Given the description of an element on the screen output the (x, y) to click on. 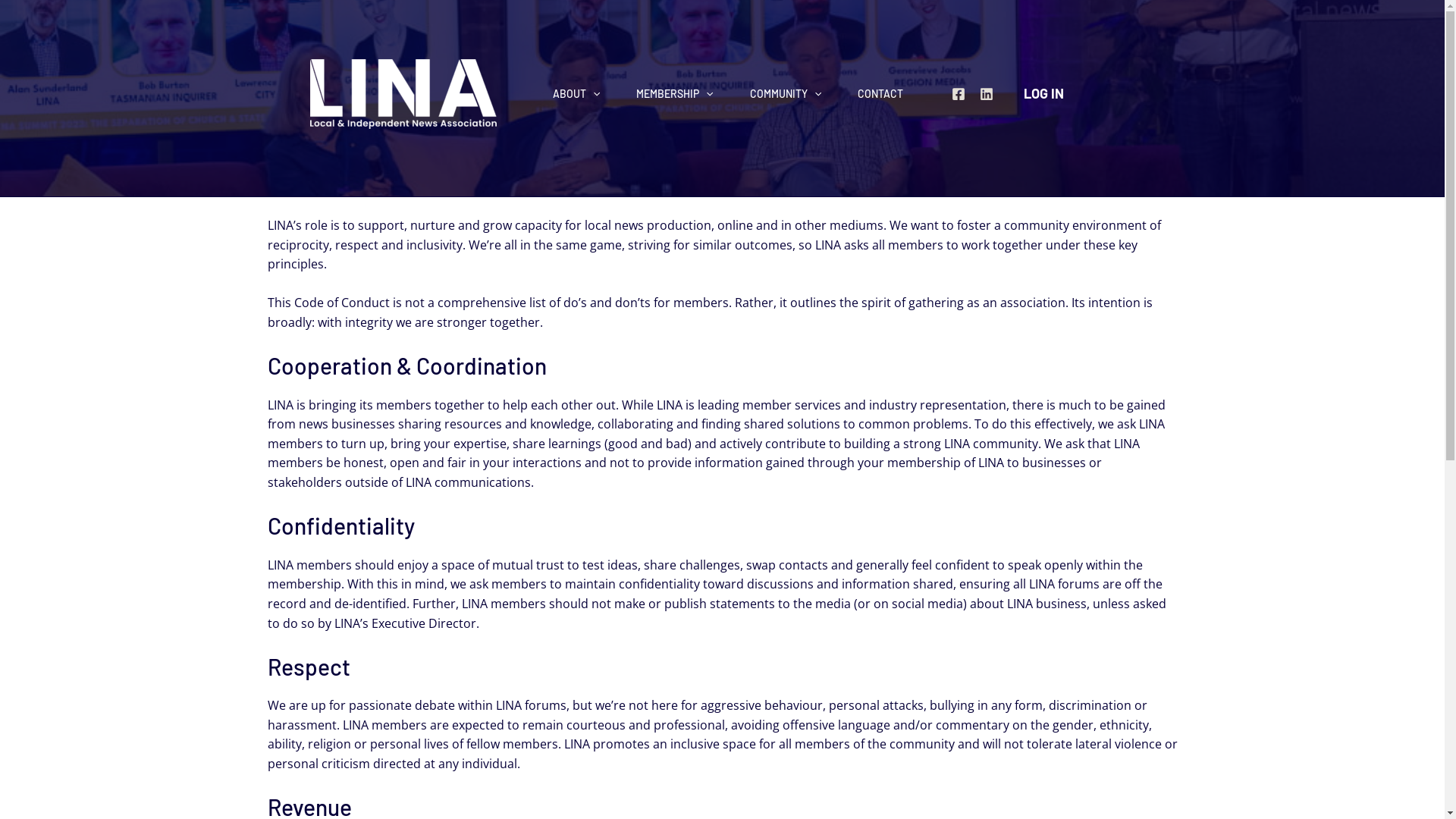
MEMBERSHIP Element type: text (674, 93)
LOG IN Element type: text (1043, 94)
CONTACT Element type: text (880, 93)
COMMUNITY Element type: text (785, 93)
ABOUT Element type: text (576, 93)
